Given the description of an element on the screen output the (x, y) to click on. 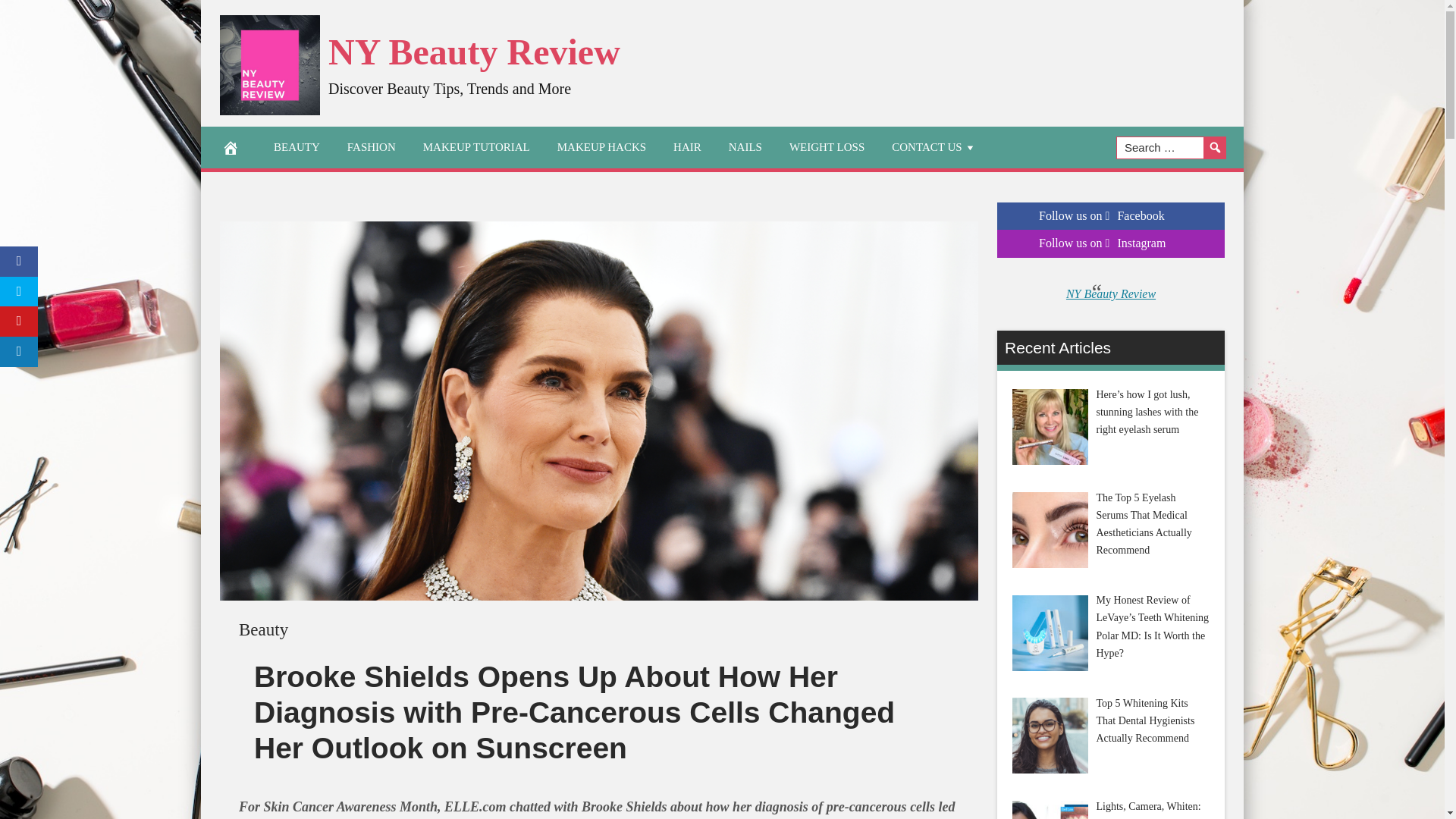
WEIGHT LOSS (826, 147)
MAKEUP HACKS (601, 147)
BEAUTY (296, 147)
CONTACT US (933, 147)
Beauty (263, 629)
NAILS (745, 147)
NY Beauty Review (474, 51)
MAKEUP TUTORIAL (476, 147)
FASHION (371, 147)
Beauty (263, 629)
HAIR (686, 147)
